Given the description of an element on the screen output the (x, y) to click on. 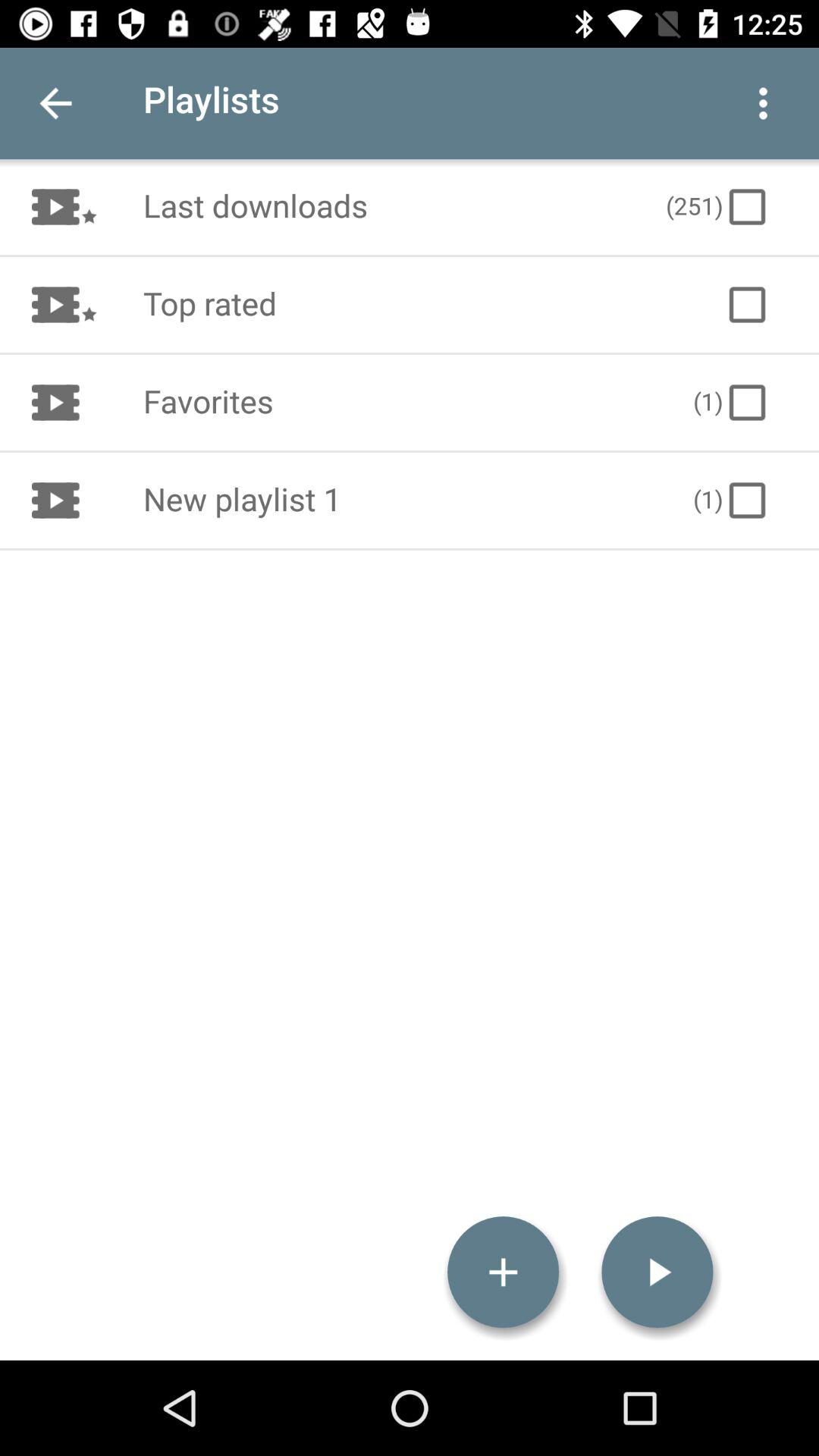
choose item below the (1) (657, 1272)
